Given the description of an element on the screen output the (x, y) to click on. 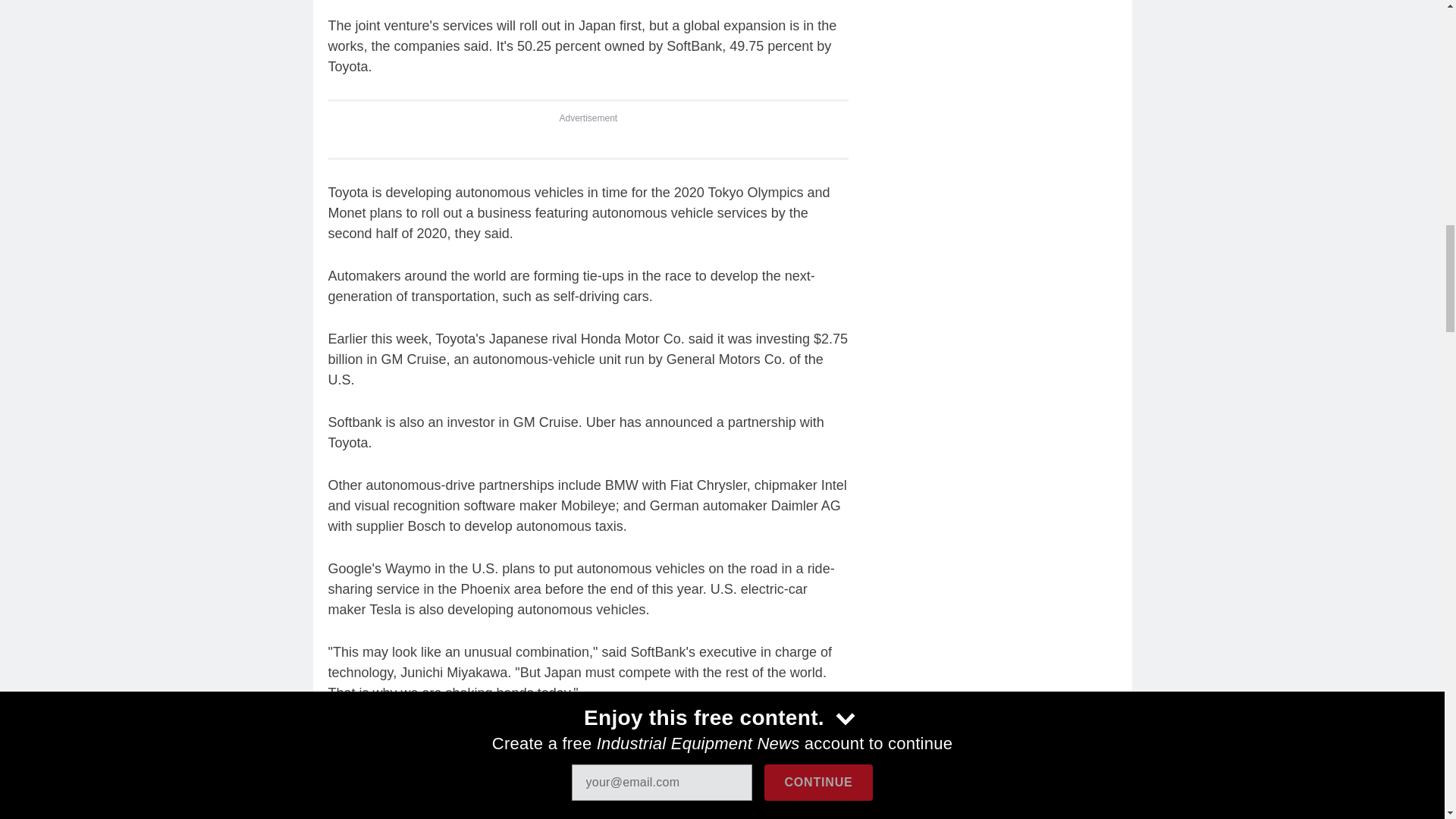
Share To print (342, 736)
Share To pinterest (499, 736)
Share To linkedin (421, 736)
Share To twitter (460, 736)
Share To facebook (381, 736)
